Given the description of an element on the screen output the (x, y) to click on. 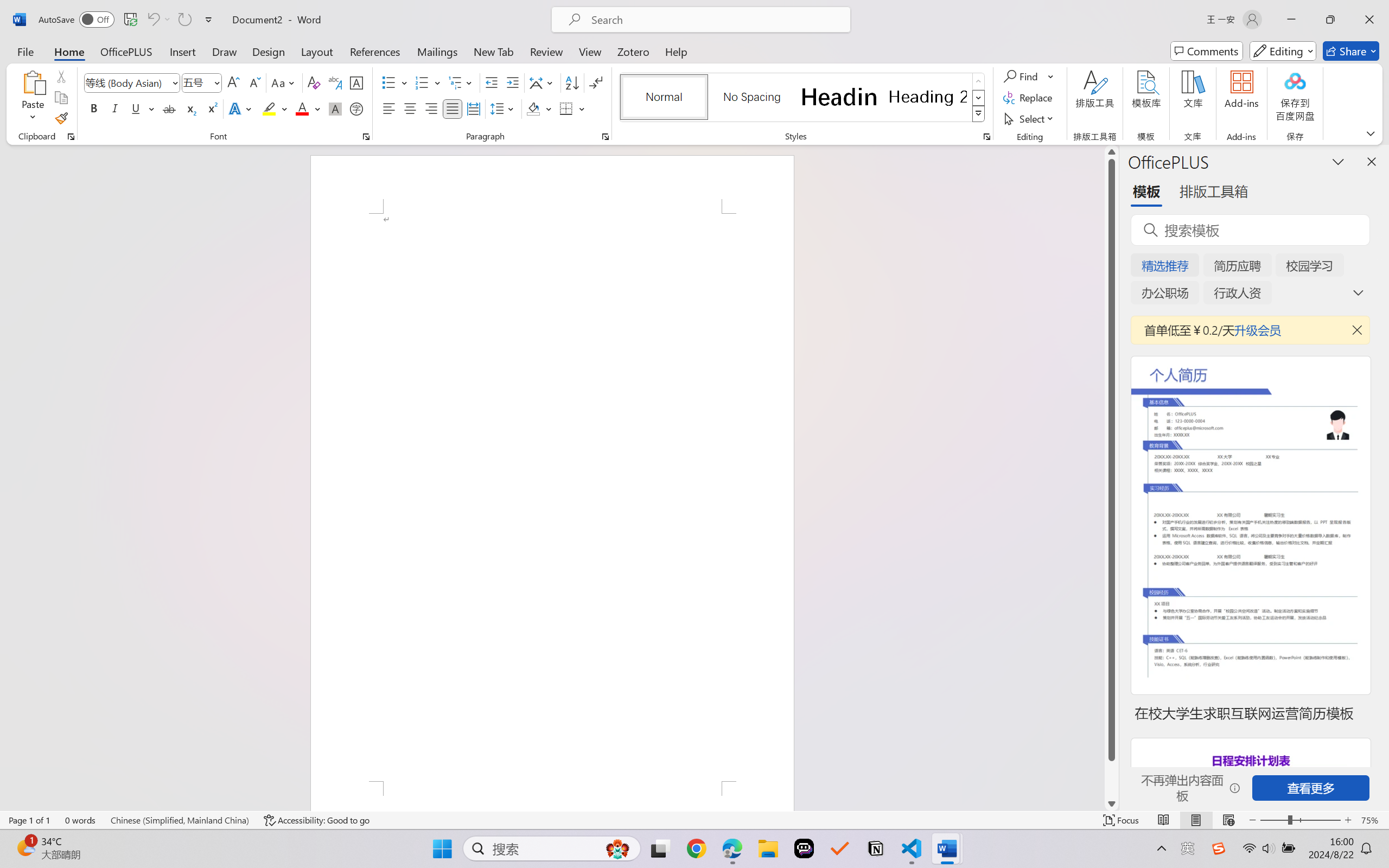
Align Left (388, 108)
Page down (1111, 778)
Borders (566, 108)
Class: NetUIScrollBar (1111, 477)
Page 1 content (551, 497)
Underline (135, 108)
Font... (365, 136)
Customize Quick Access Toolbar (208, 19)
Grow Font (233, 82)
New Tab (493, 51)
Text Effects and Typography (241, 108)
Home (69, 51)
Bullets (395, 82)
